Given the description of an element on the screen output the (x, y) to click on. 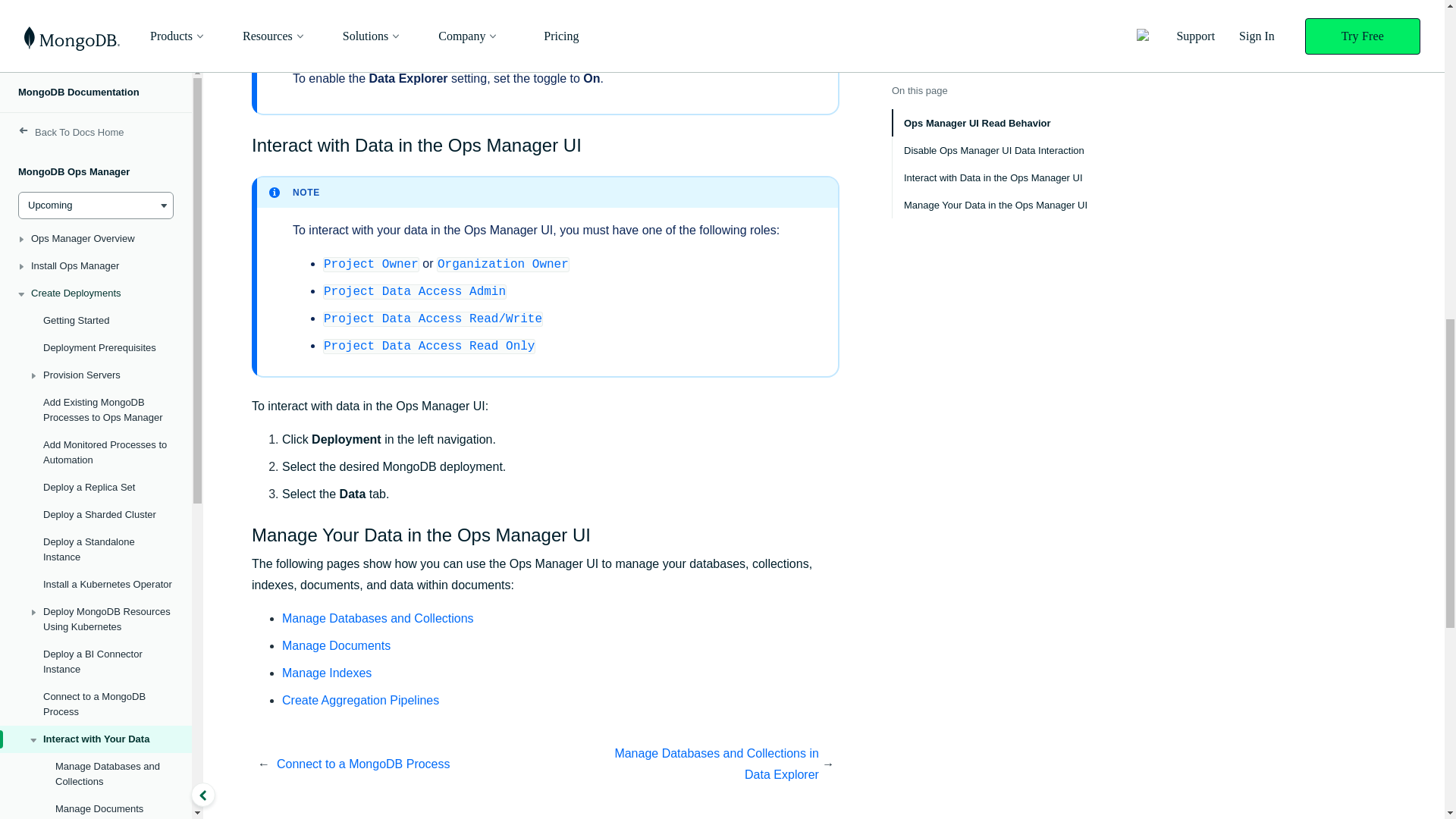
Next Section (682, 763)
Previous Section (411, 763)
